Given the description of an element on the screen output the (x, y) to click on. 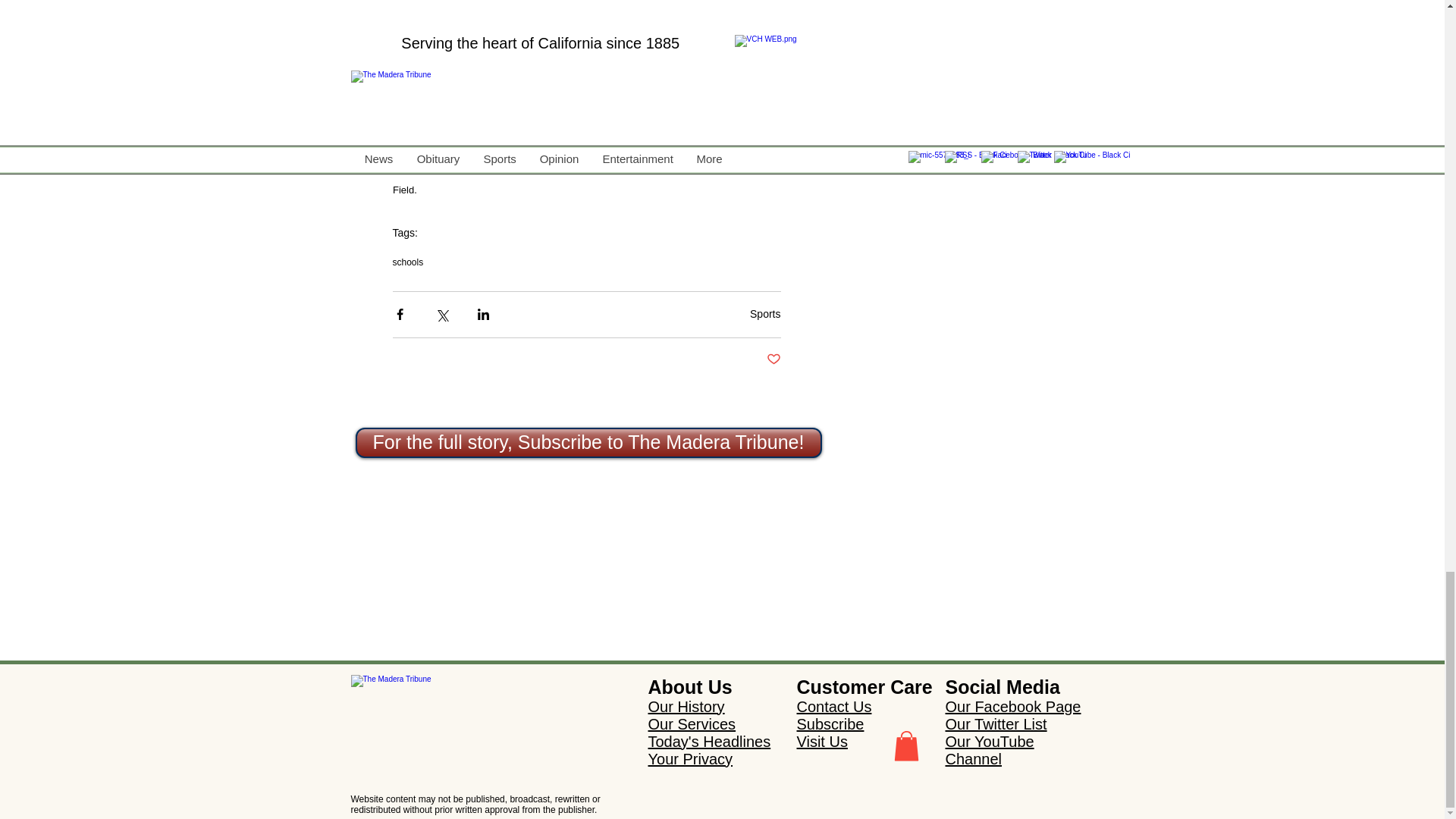
Our Services (691, 723)
Reload the latest headlines (455, 687)
Our YouTube Channel (988, 750)
Our Facebook Page (1012, 706)
schools (408, 262)
Post not marked as liked (772, 359)
Subscribe (829, 723)
For the full story, Subscribe to The Madera Tribune! (588, 442)
Your Privacy (689, 759)
Sports (764, 313)
